Given the description of an element on the screen output the (x, y) to click on. 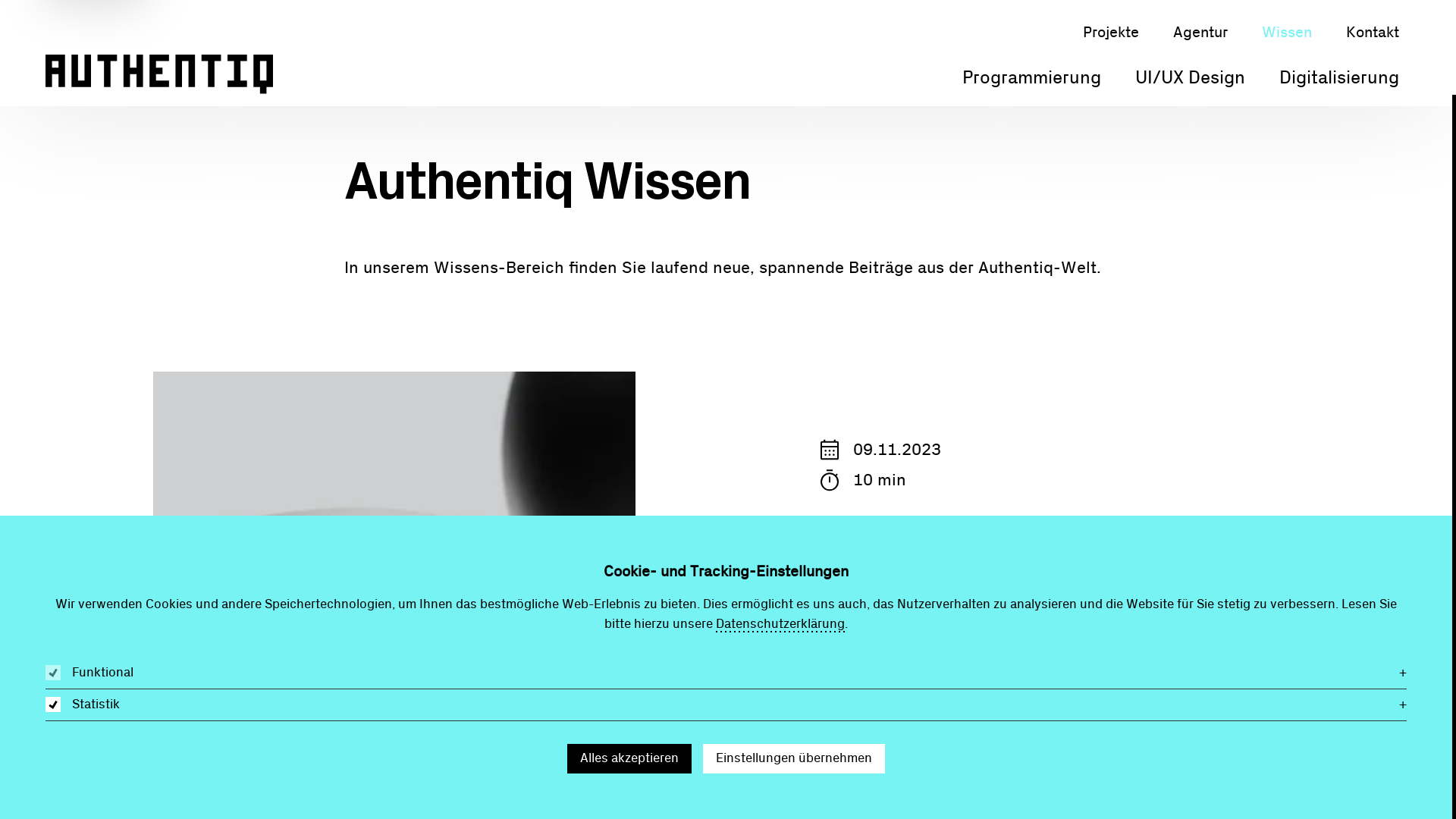
Programmierung Element type: text (1031, 77)
UI/UX Design Element type: text (1189, 77)
Alles akzeptieren Element type: text (629, 758)
Wissen Element type: text (1286, 31)
Digitalisierung Element type: text (1338, 77)
Agentur Element type: text (1200, 31)
Kontakt Element type: text (1372, 31)
Projekte Element type: text (1110, 31)
